Given the description of an element on the screen output the (x, y) to click on. 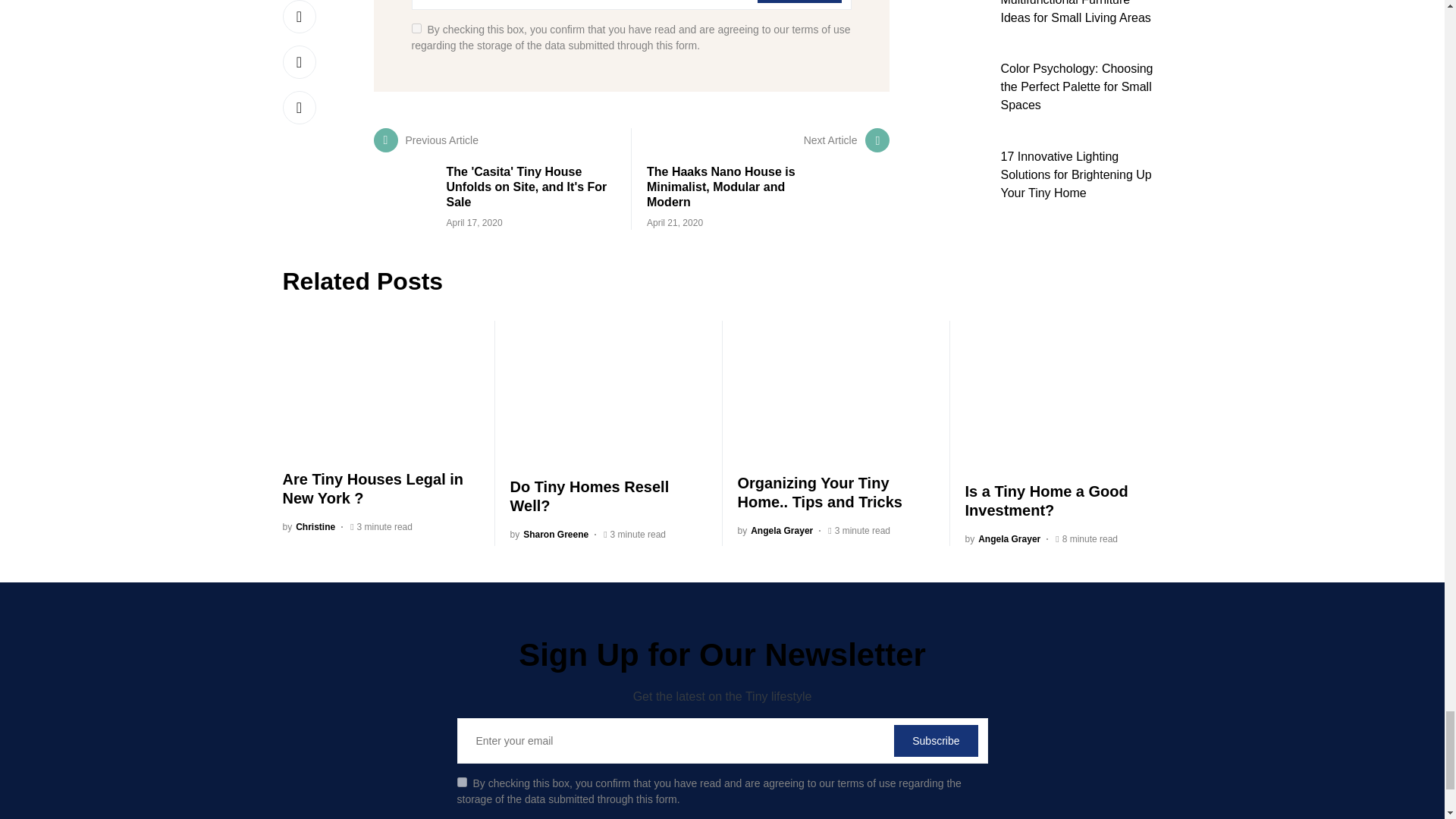
on (461, 782)
on (415, 28)
View all posts by Christine (308, 526)
